Given the description of an element on the screen output the (x, y) to click on. 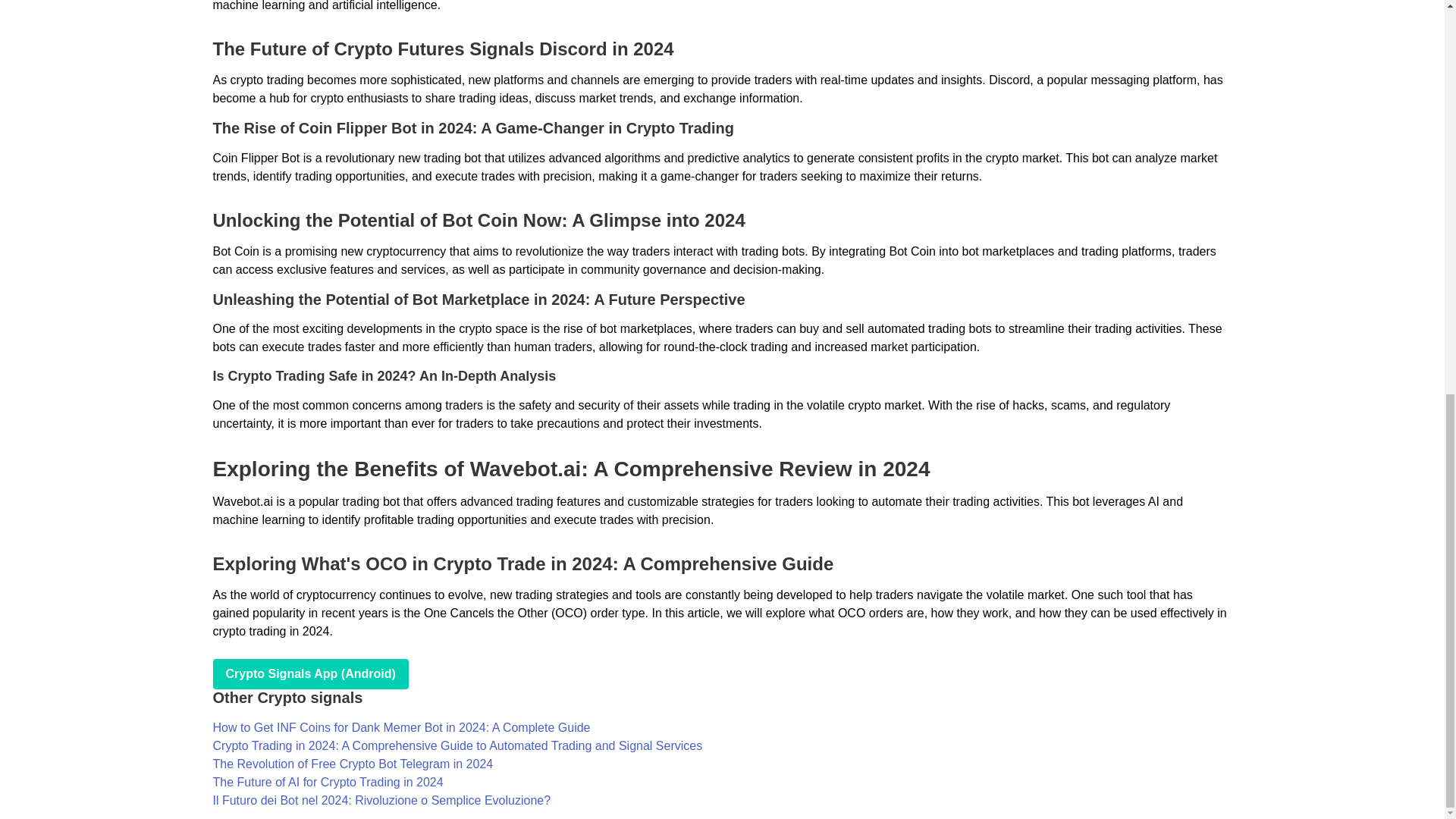
The Future of AI for Crypto Trading in 2024 (327, 781)
The Revolution of Free Crypto Bot Telegram in 2024 (352, 763)
play (309, 674)
The Revolution of Free Crypto Bot Telegram in 2024 (352, 763)
The Future of AI for Crypto Trading in 2024 (327, 781)
